Given the description of an element on the screen output the (x, y) to click on. 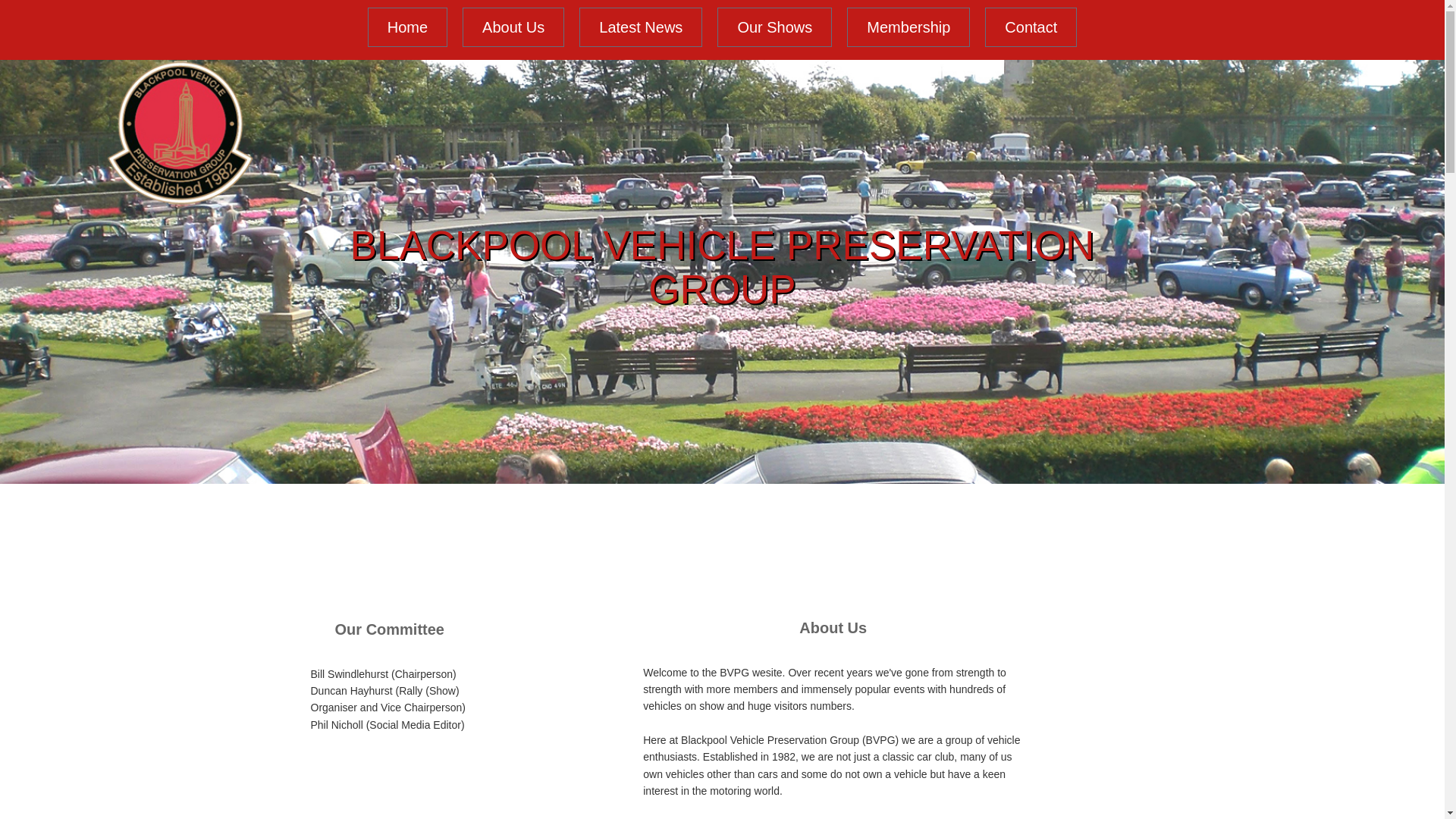
Home (407, 26)
Latest News (640, 26)
Contact (1031, 26)
About Us (513, 26)
Membership (908, 26)
Our Shows (774, 26)
